Given the description of an element on the screen output the (x, y) to click on. 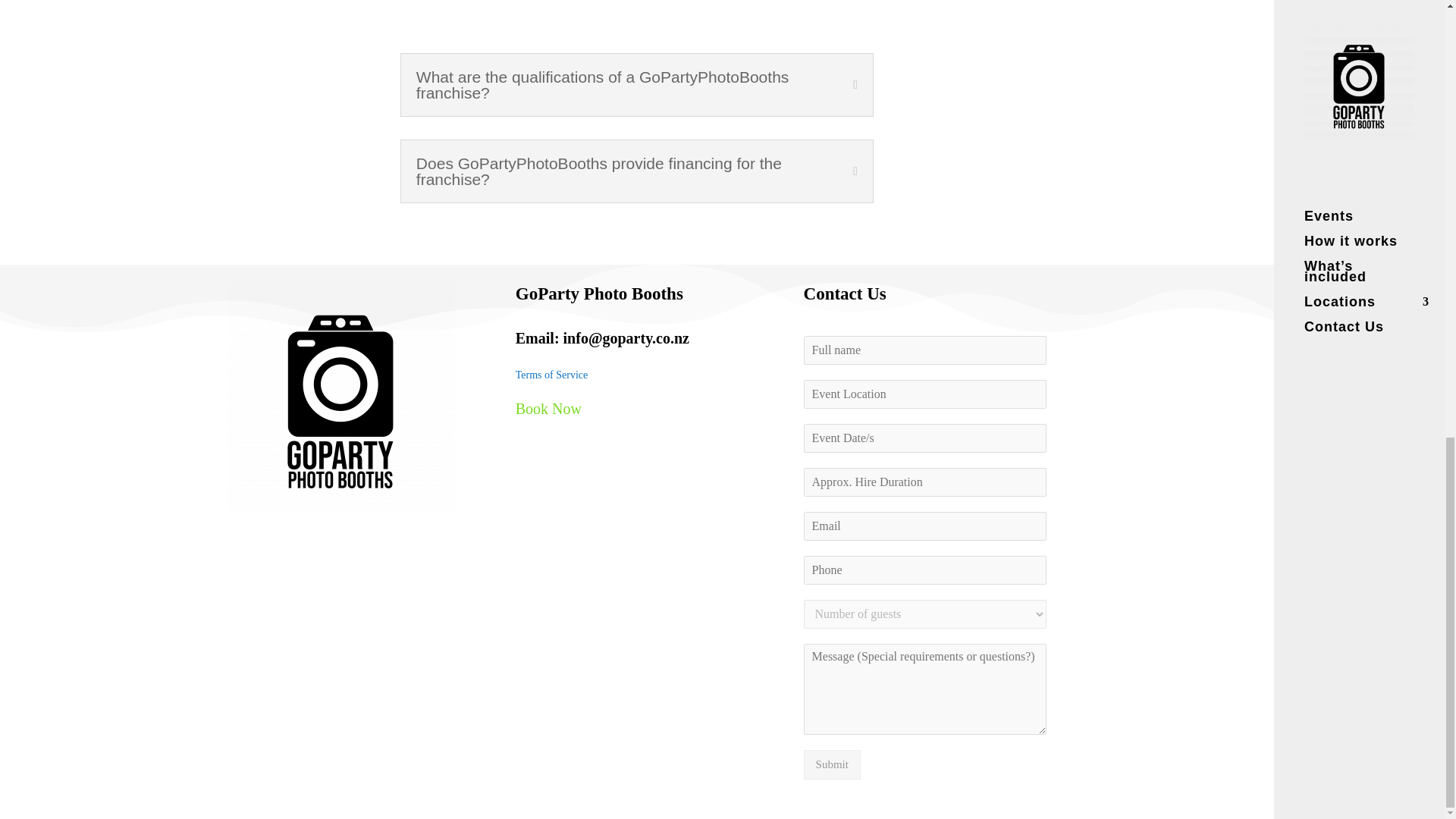
Go Party Photo Booths Black Transparent (340, 398)
